Given the description of an element on the screen output the (x, y) to click on. 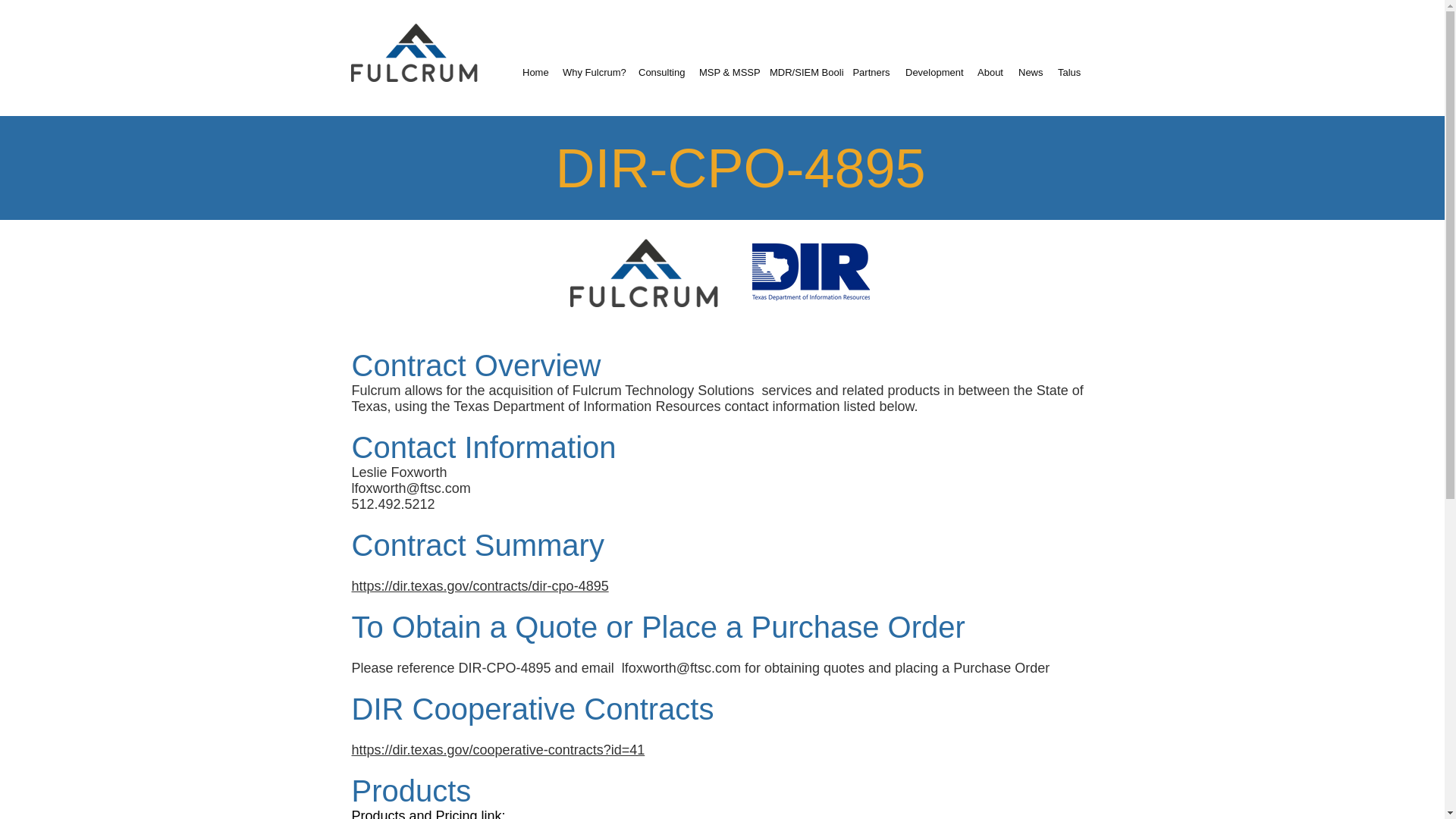
Home (534, 72)
Talus (1068, 72)
Partners (871, 72)
Why Fulcrum? (592, 72)
Development (933, 72)
Consulting (660, 72)
News (1029, 72)
About (989, 72)
